Given the description of an element on the screen output the (x, y) to click on. 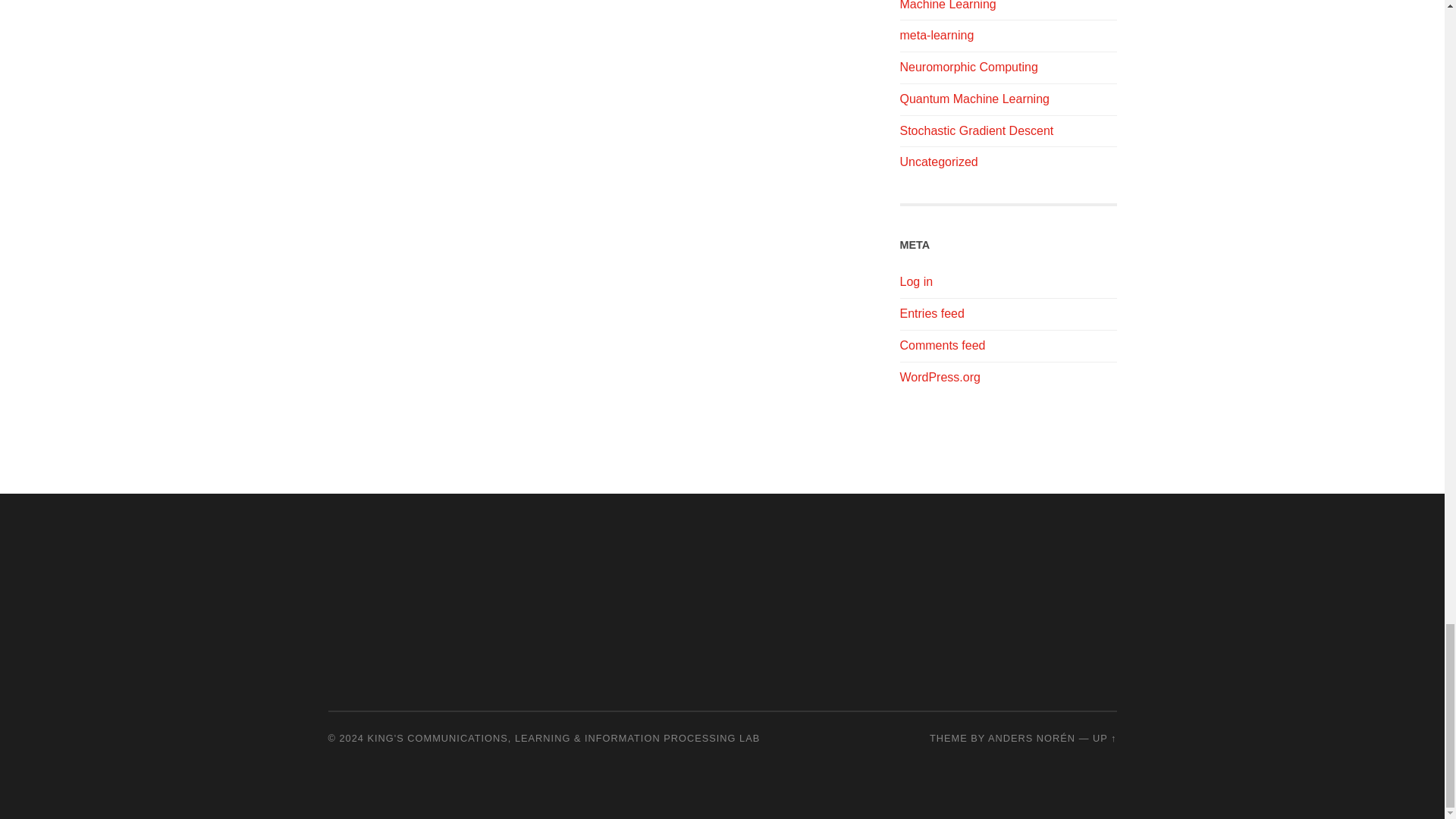
To the top (1104, 737)
